Given the description of an element on the screen output the (x, y) to click on. 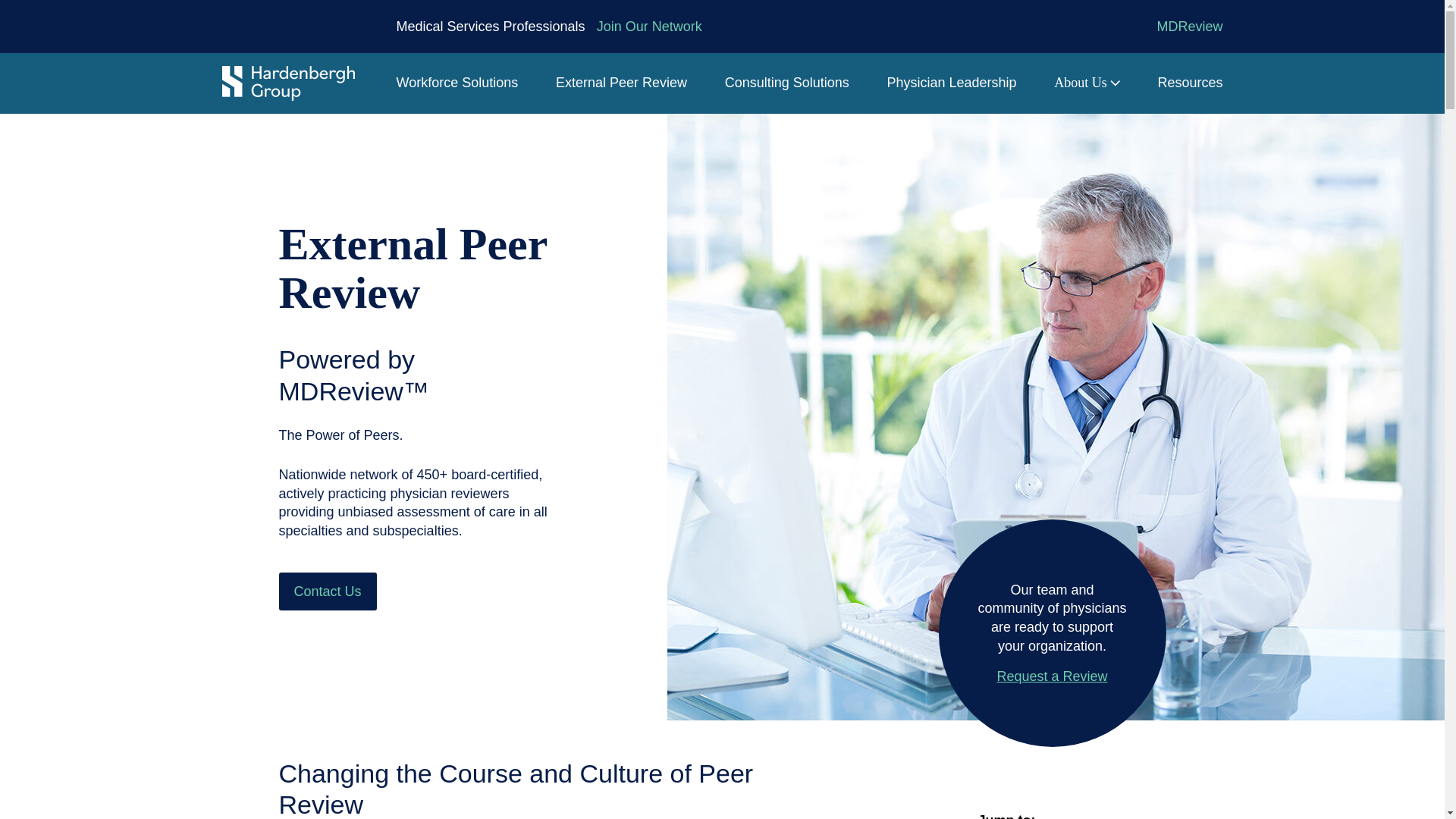
Join Our Network (648, 26)
Physician Leadership (951, 83)
MDReview (1189, 26)
Resources (1190, 83)
External Peer Review (621, 83)
Workforce Solutions (457, 83)
About Us (1086, 83)
Contact Us (328, 591)
Request a Review (1052, 676)
Consulting Solutions (786, 83)
